Given the description of an element on the screen output the (x, y) to click on. 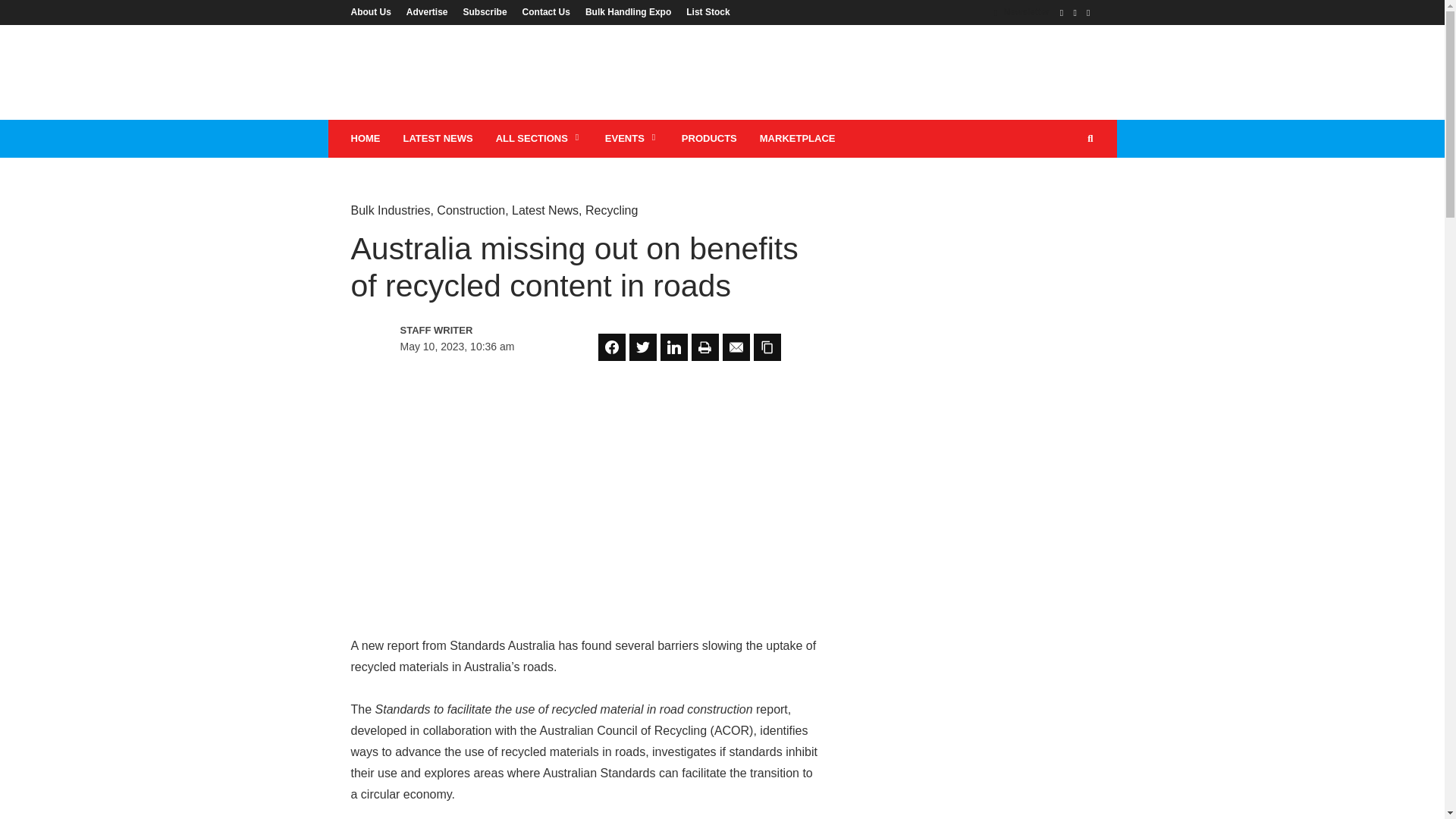
Bulk Handling Expo (628, 11)
About Us (373, 11)
Share on Twitter (642, 347)
Advertise (426, 11)
Subscribe (485, 11)
HOME (365, 138)
Share on Facebook (612, 347)
List Stock (703, 11)
Share on Print (705, 347)
ALL SECTIONS (539, 138)
Share on Copy Link (767, 347)
Share on Email (735, 347)
LATEST NEWS (437, 138)
Contact Us (546, 11)
View all posts by Staff Writer (465, 330)
